Given the description of an element on the screen output the (x, y) to click on. 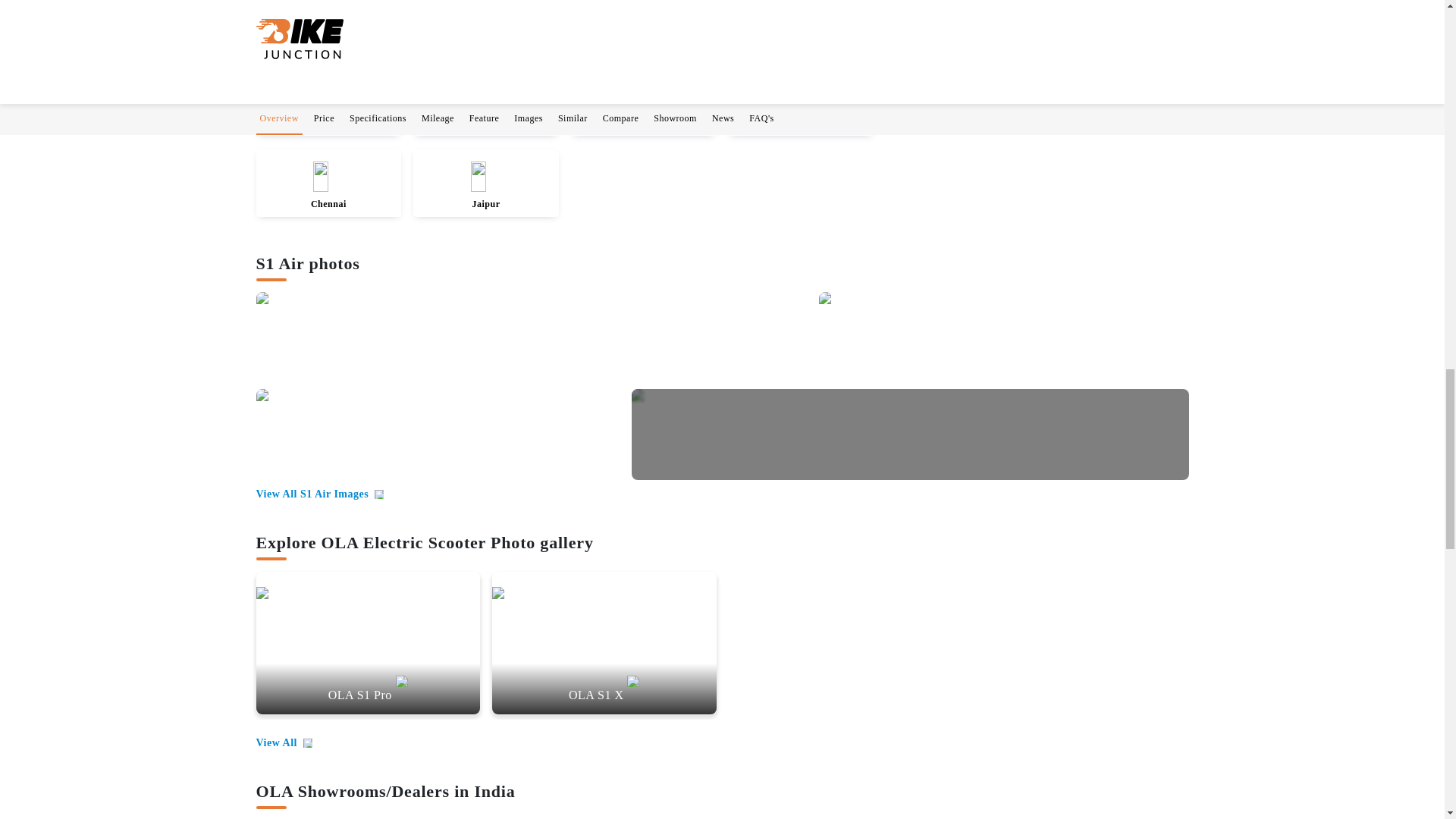
Mumbai (644, 107)
Jaipur (485, 188)
Hyderabad (800, 107)
S1 Air (534, 337)
OLA S1 Pro (368, 650)
Chennai (328, 188)
Pune (328, 107)
View All (284, 742)
Bangalore (485, 107)
View All S1 Air Images (320, 494)
